Given the description of an element on the screen output the (x, y) to click on. 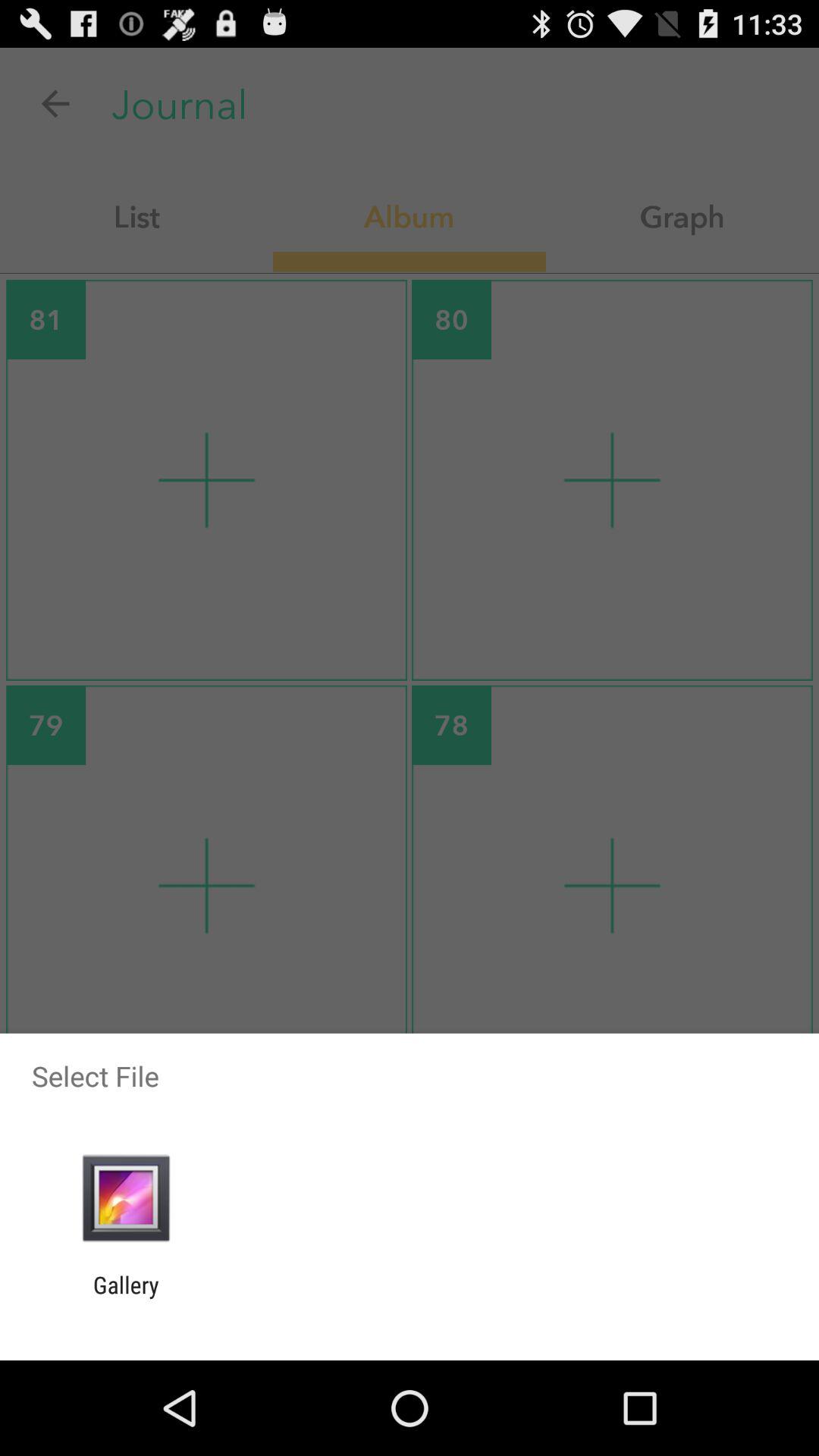
choose item above gallery icon (126, 1198)
